Given the description of an element on the screen output the (x, y) to click on. 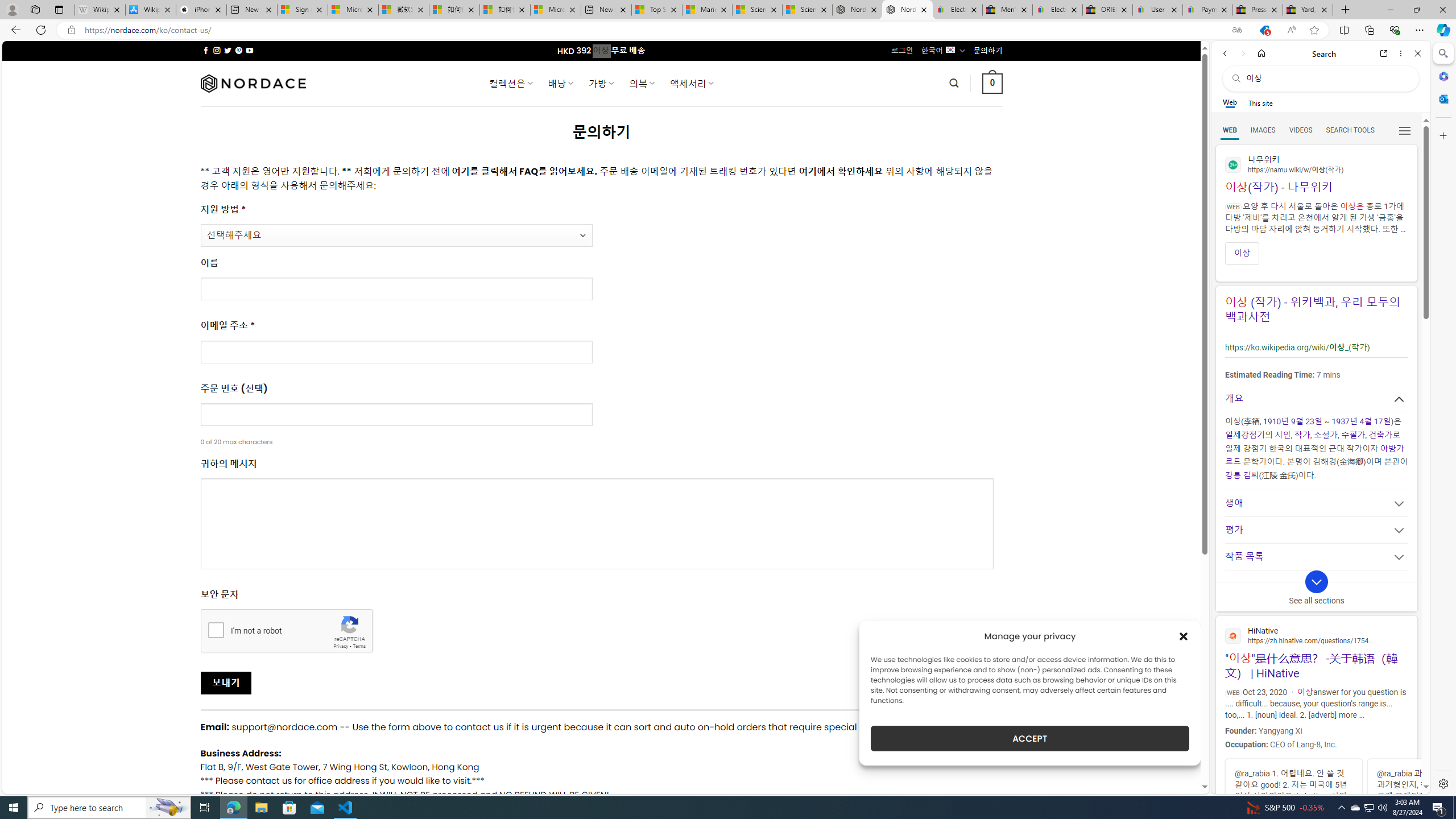
I'm not a robot (216, 629)
